Given the description of an element on the screen output the (x, y) to click on. 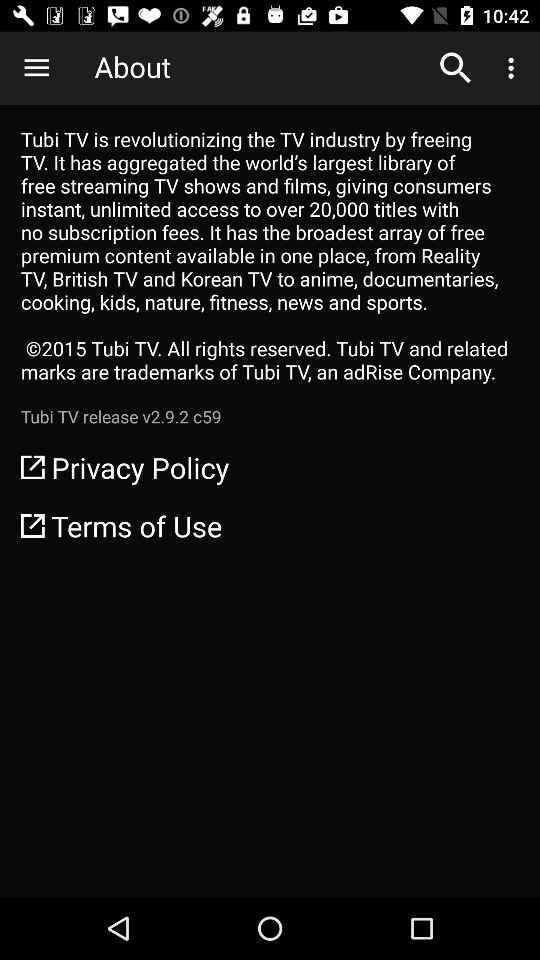
turn on the icon at the top left corner (36, 68)
